Given the description of an element on the screen output the (x, y) to click on. 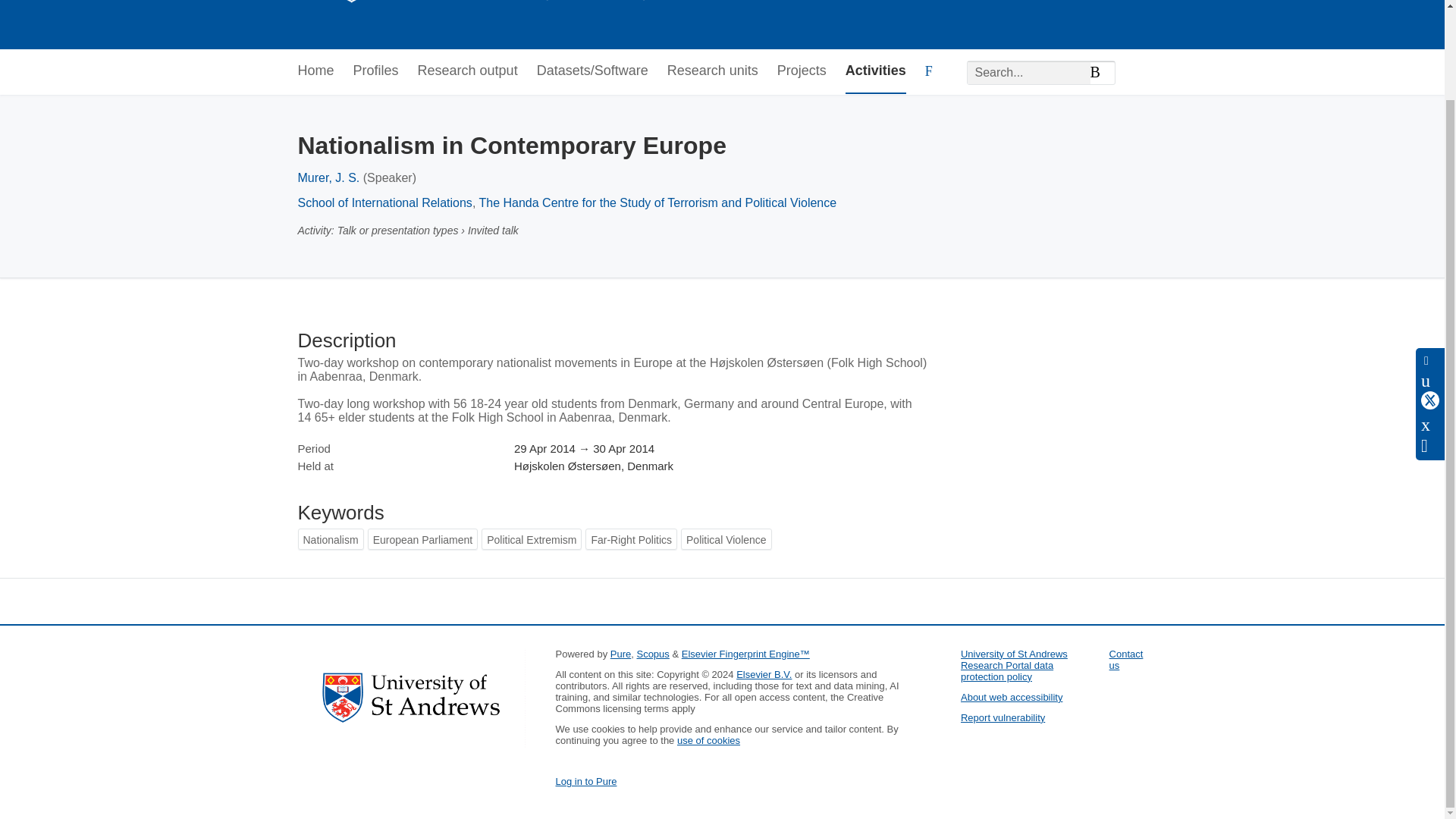
Report vulnerability (1002, 717)
Research output (467, 71)
use of cookies (708, 740)
About web accessibility (1011, 696)
Contact us (1125, 659)
Murer, J. S. (328, 177)
Pure (620, 654)
Scopus (652, 654)
Profiles (375, 71)
